Given the description of an element on the screen output the (x, y) to click on. 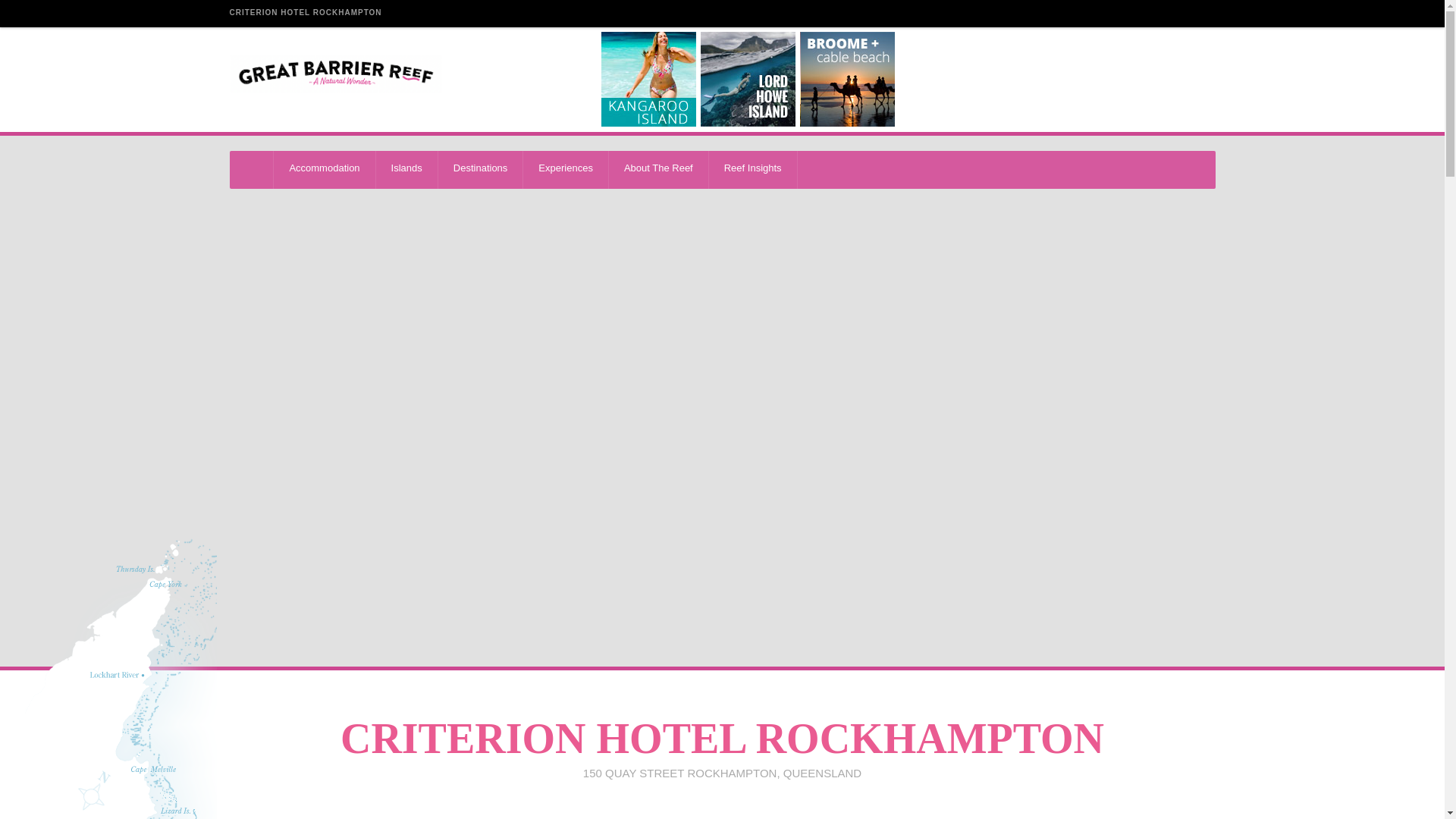
Great Ocean Road Australia (1045, 78)
Lord Howe Island (747, 78)
Great Barrier Reef (334, 73)
Uluru Australia (946, 78)
Kimberley Australia (846, 78)
Kangaroo Island Australia (647, 78)
Port Stephens Australia (1144, 78)
